Given the description of an element on the screen output the (x, y) to click on. 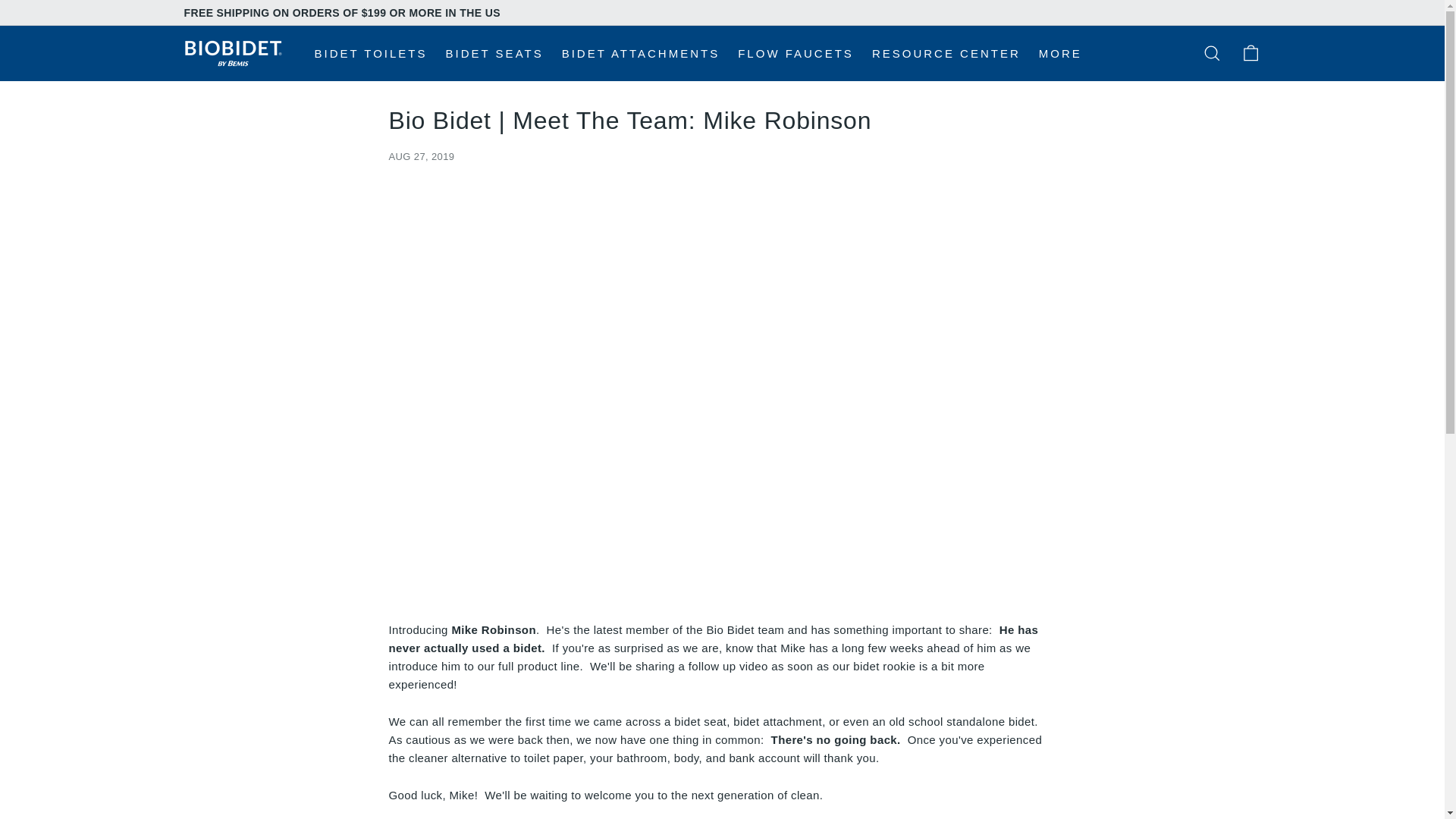
FLOW FAUCETS (796, 52)
RESOURCE CENTER (946, 52)
BIDET TOILETS (369, 52)
BIDET ATTACHMENTS (641, 52)
BIDET SEATS (494, 52)
MORE (1059, 52)
